Given the description of an element on the screen output the (x, y) to click on. 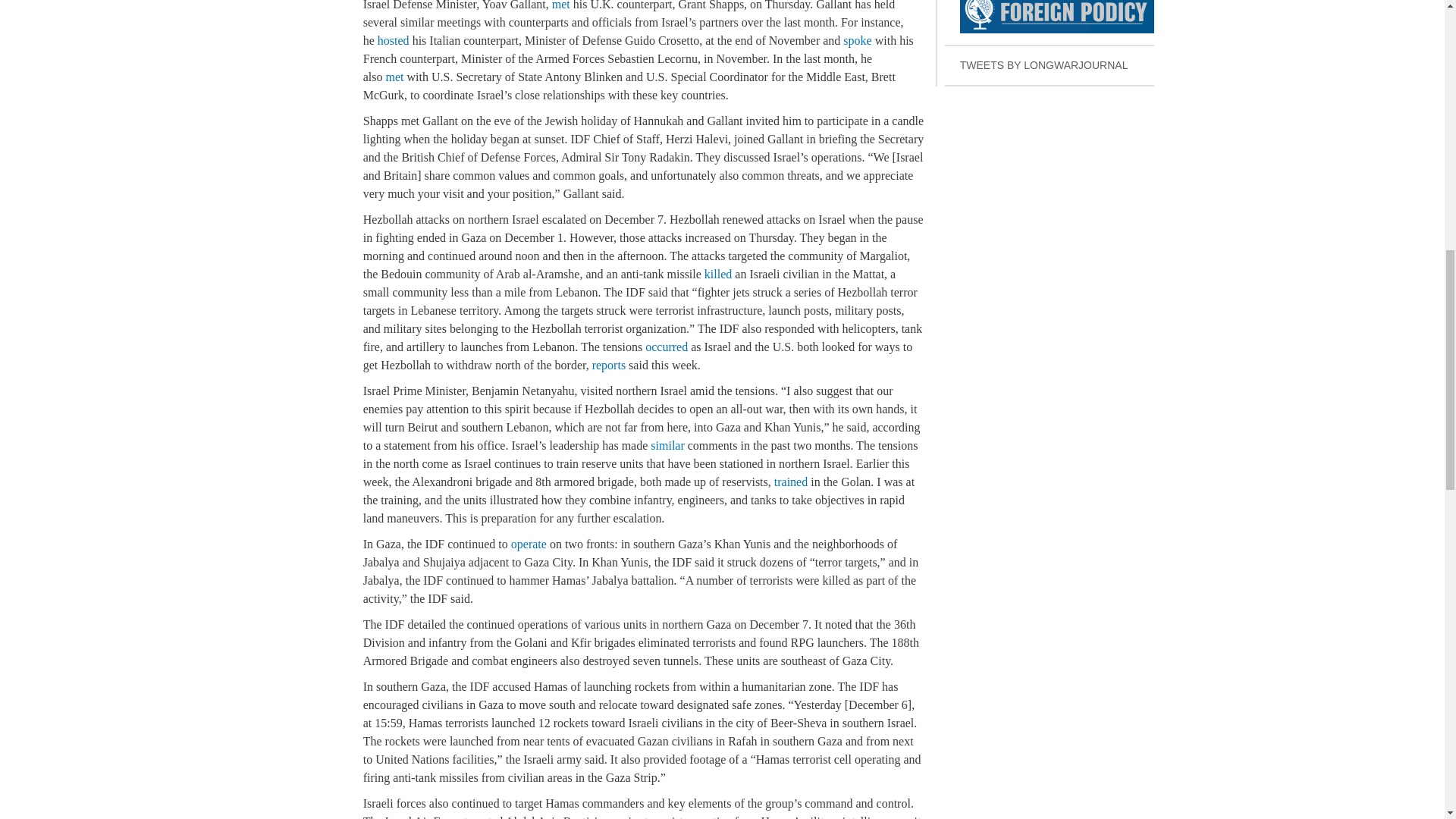
similar (667, 445)
occurred (666, 346)
met (394, 76)
spoke (1049, 22)
TWEETS BY LONGWARJOURNAL (856, 40)
trained (1049, 65)
hosted (791, 481)
operate (393, 40)
reports (529, 543)
met (609, 364)
killed (560, 5)
